Given the description of an element on the screen output the (x, y) to click on. 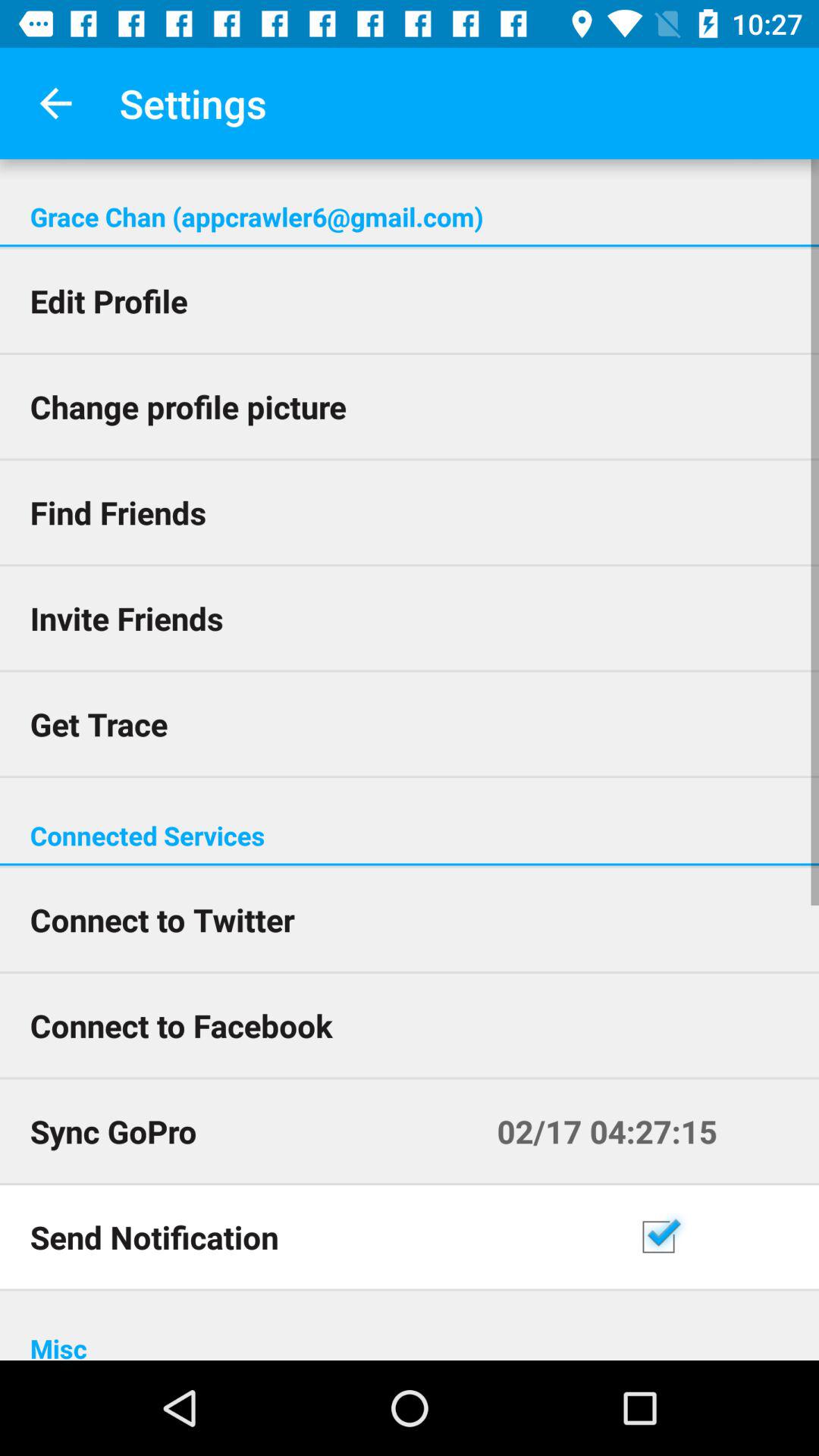
press icon above get trace (409, 617)
